Given the description of an element on the screen output the (x, y) to click on. 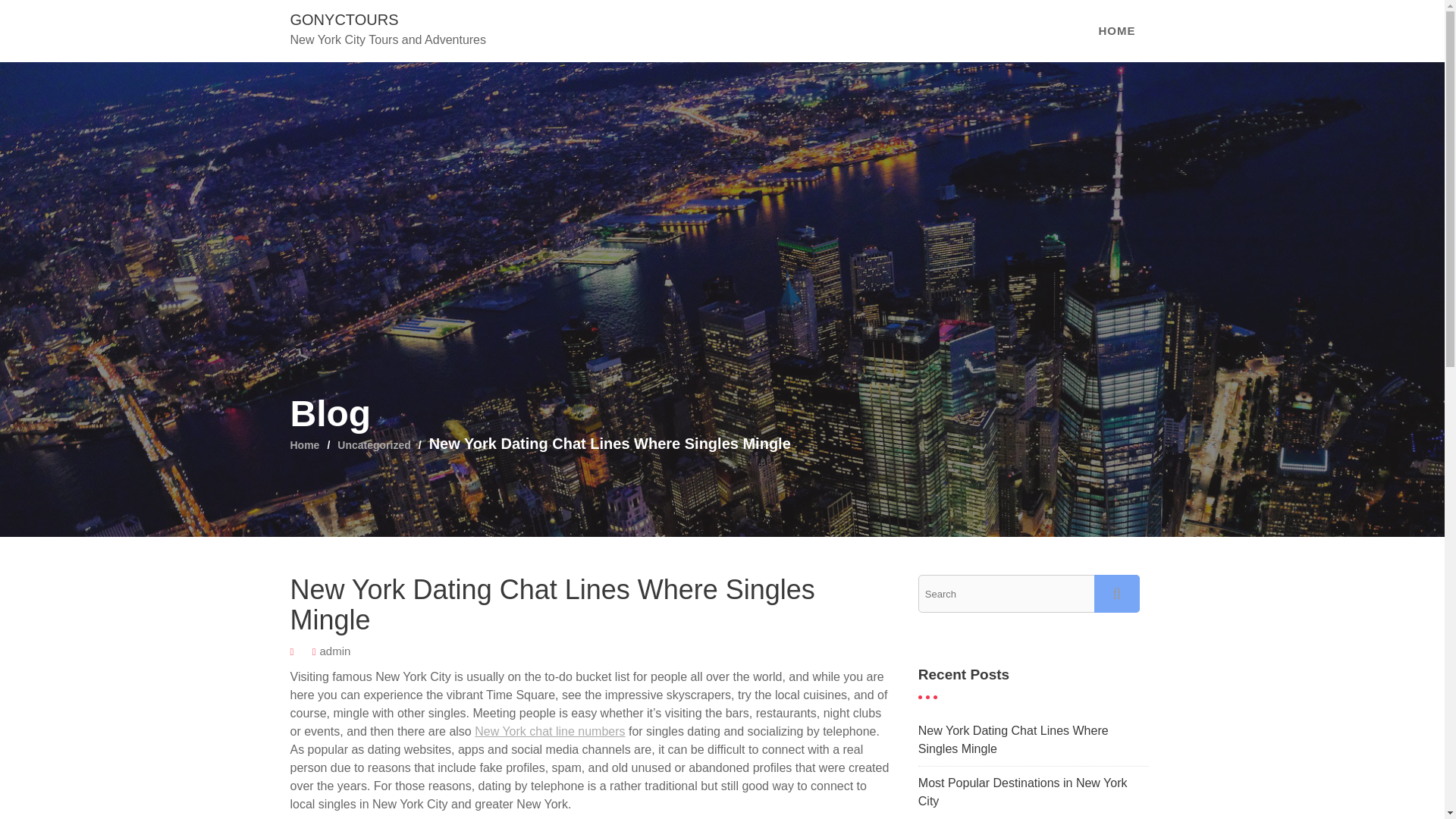
Uncategorized (373, 444)
GoNYCTours (343, 19)
GONYCTOURS (343, 19)
admin (334, 650)
New York Dating Chat Lines Where Singles Mingle (1013, 739)
New York chat line numbers (549, 730)
Most Popular Destinations in New York City (1022, 791)
Home (303, 444)
